Given the description of an element on the screen output the (x, y) to click on. 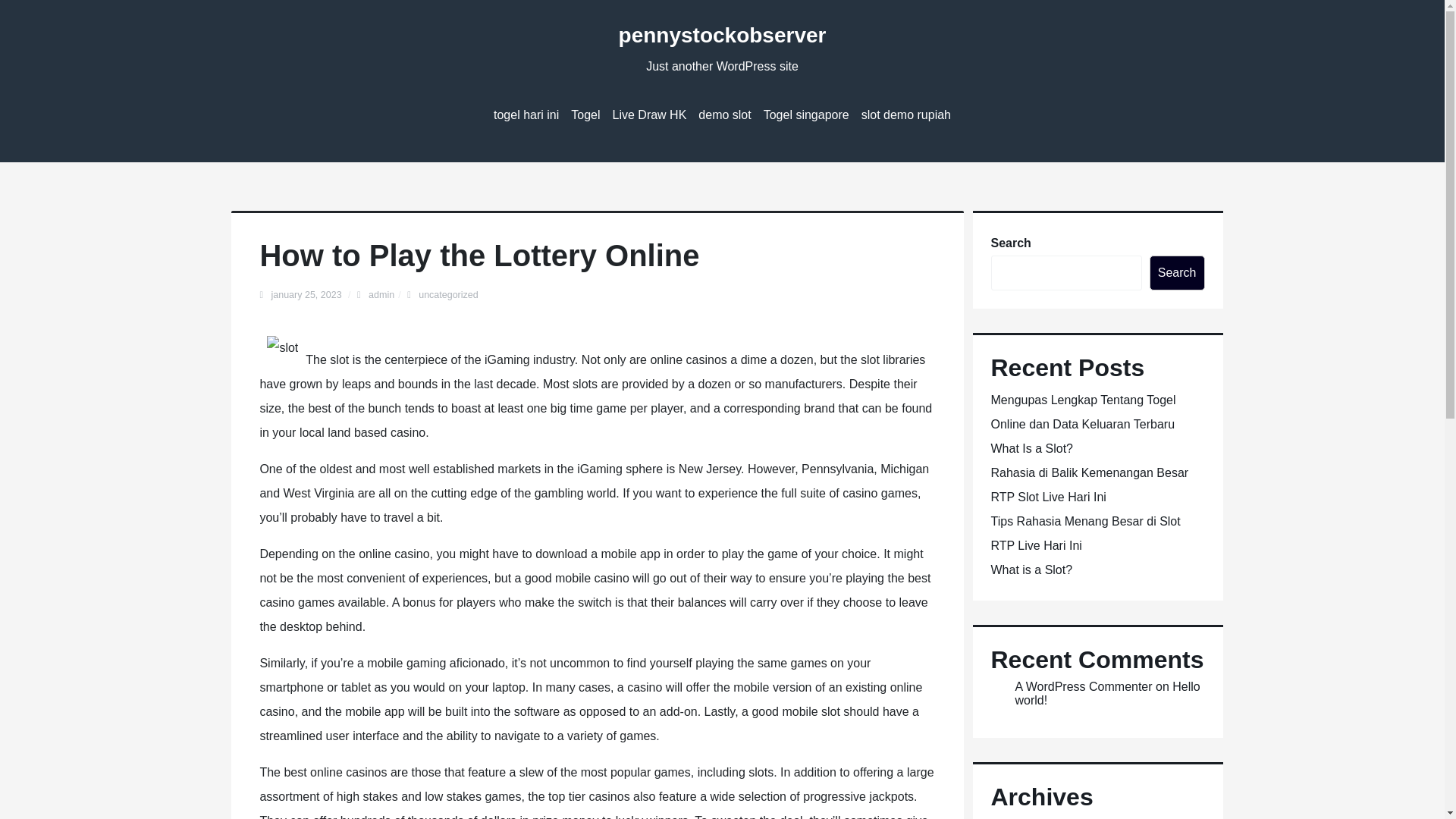
What is a Slot? (1030, 569)
Tips Rahasia Menang Besar di Slot RTP Live Hari Ini (1084, 533)
admin (381, 294)
Rahasia di Balik Kemenangan Besar RTP Slot Live Hari Ini (1089, 484)
demo slot (725, 115)
What Is a Slot? (1031, 448)
Togel singapore (806, 115)
Live Draw HK (650, 115)
togel hari ini (525, 115)
january 25, 2023 (306, 294)
pennystockobserver (722, 34)
slot demo rupiah (906, 115)
A WordPress Commenter (1082, 686)
Hello world! (1106, 693)
